Given the description of an element on the screen output the (x, y) to click on. 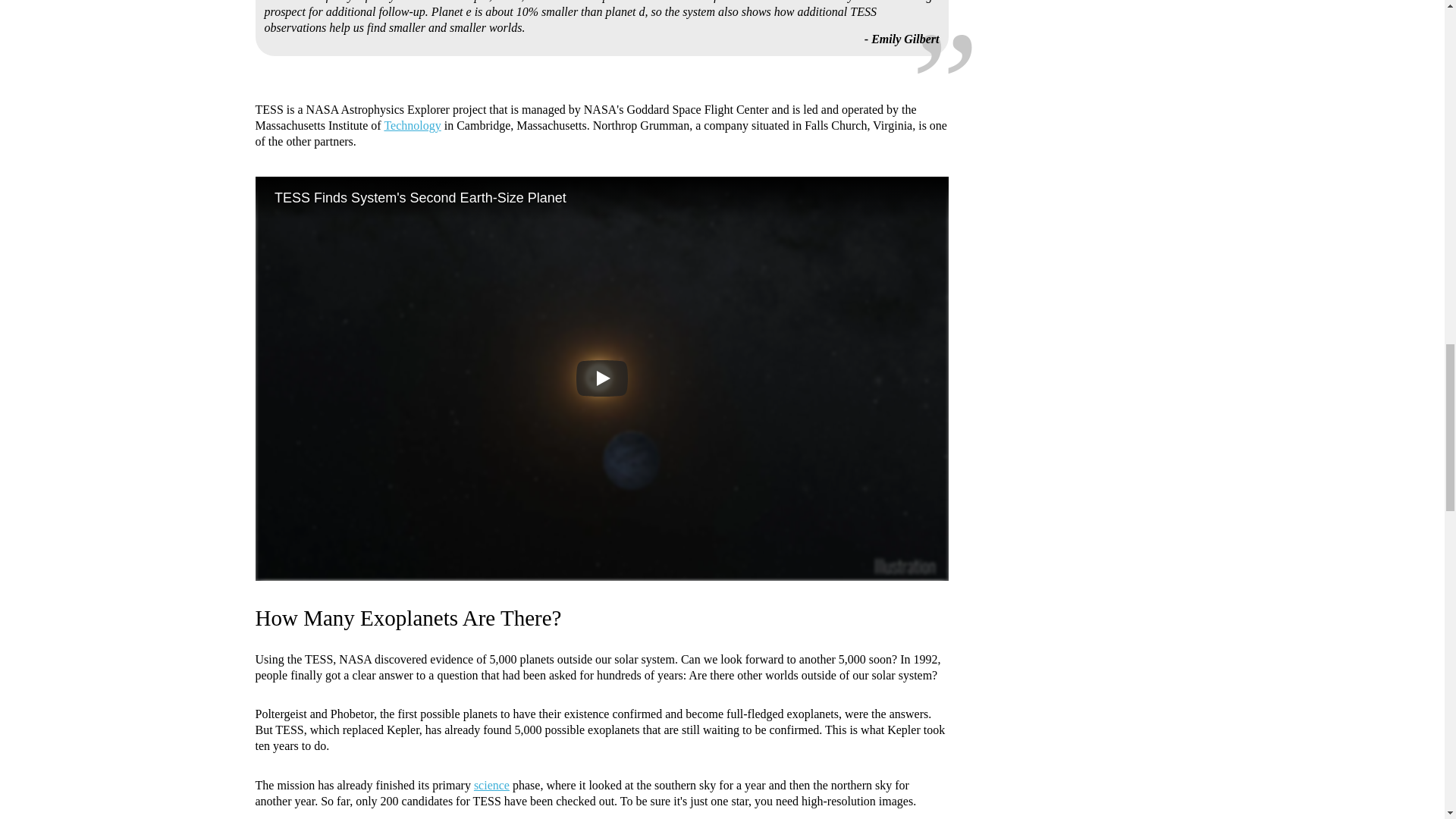
How Many Exoplanets Are There? (407, 617)
How Many Exoplanets Are There? (407, 617)
science (491, 784)
Technology (412, 124)
